Given the description of an element on the screen output the (x, y) to click on. 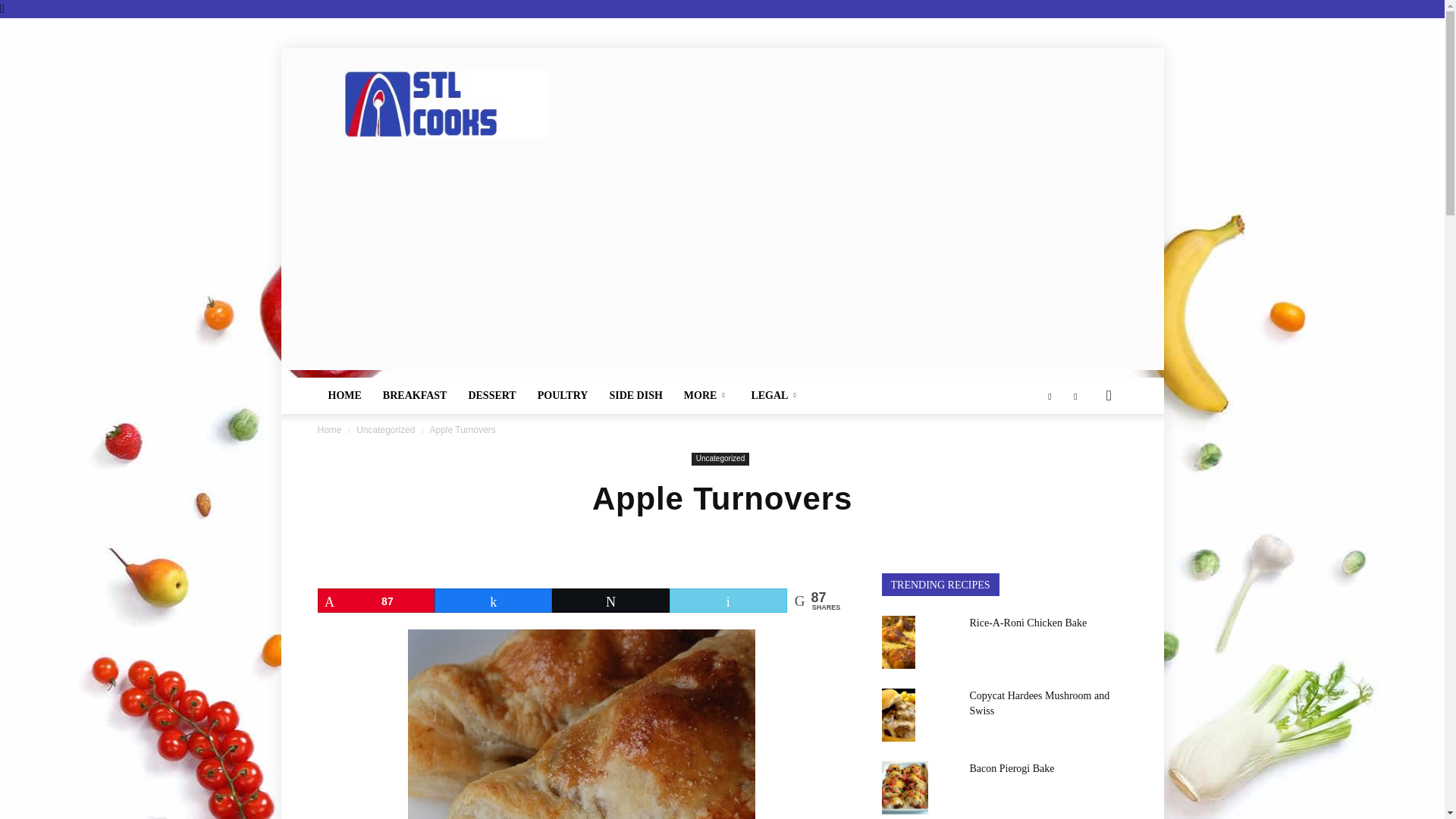
LEGAL (774, 395)
MORE (706, 395)
View all posts in Uncategorized (385, 429)
HOME (344, 395)
SIDE DISH (635, 395)
DESSERT (491, 395)
POULTRY (562, 395)
BREAKFAST (415, 395)
